Given the description of an element on the screen output the (x, y) to click on. 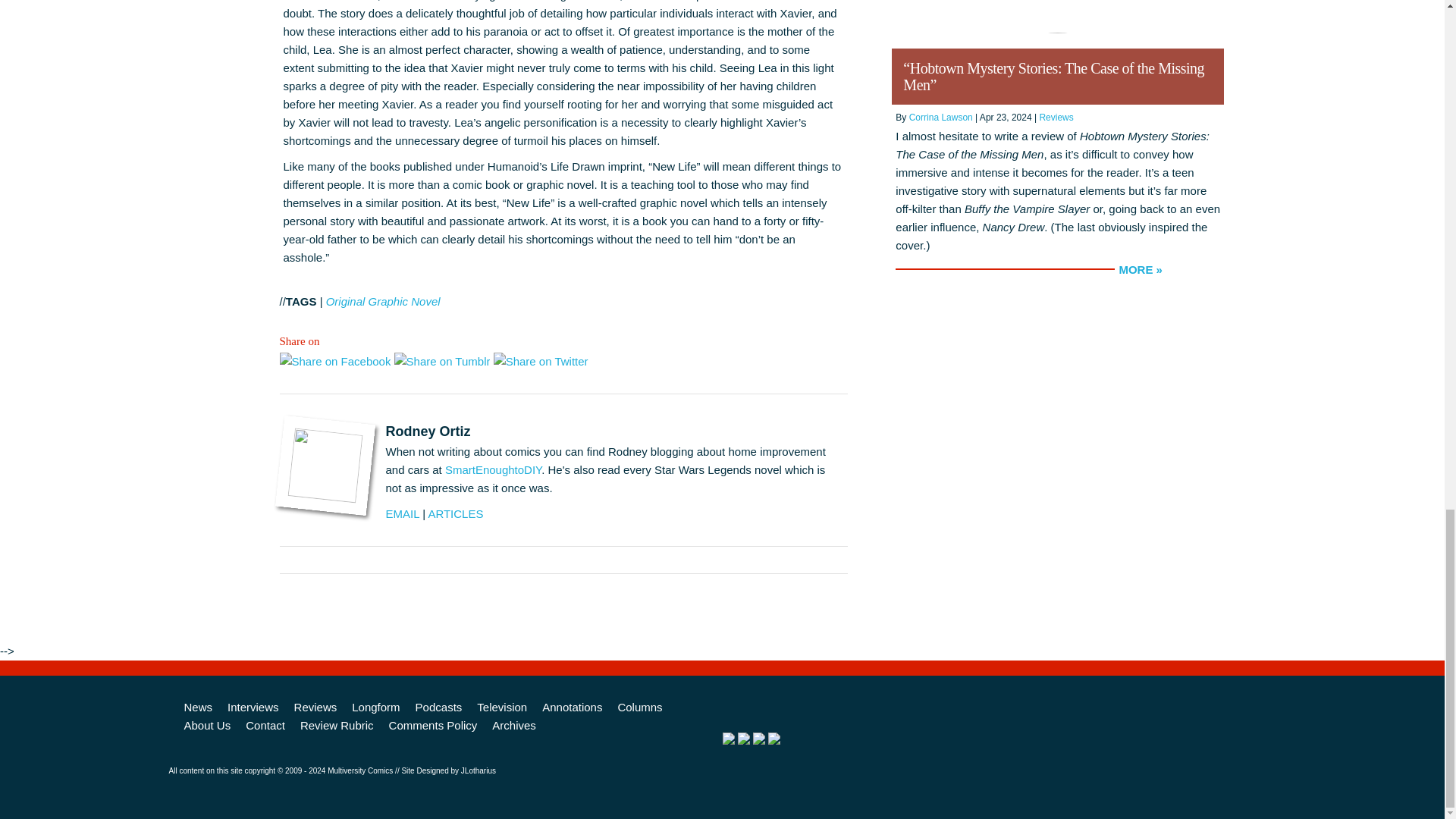
Reviews (315, 707)
Corrina Lawson (940, 117)
SmartEnoughtoDIY (493, 469)
Longform (375, 707)
Podcasts (438, 707)
Interviews (253, 707)
ARTICLES (455, 513)
Reviews (1056, 117)
EMAIL (402, 513)
Original Graphic Novel (383, 300)
